Given the description of an element on the screen output the (x, y) to click on. 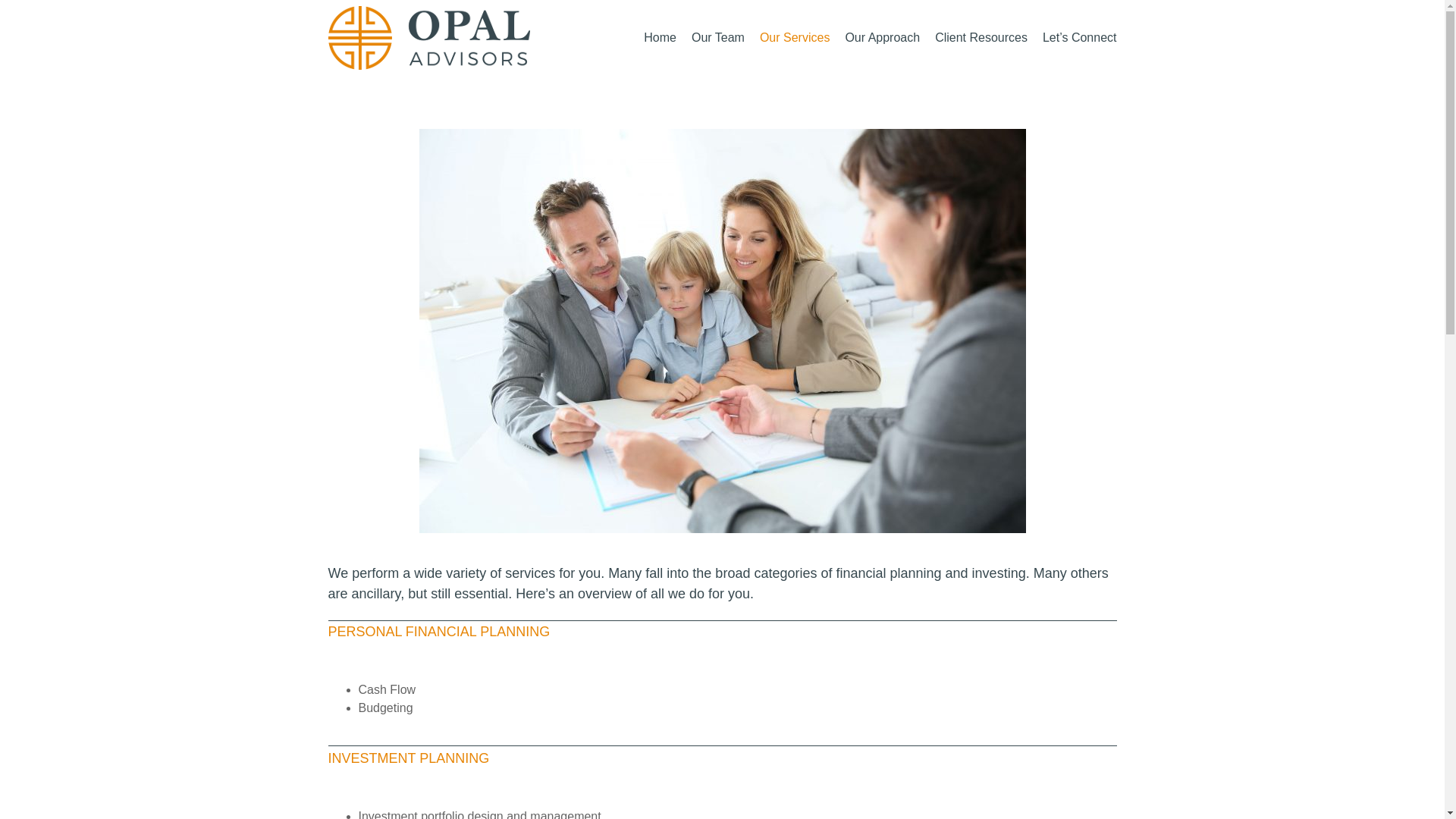
Client Resources (980, 38)
Our Approach (882, 38)
Our Services (794, 38)
Our Team (717, 38)
Home (660, 38)
